Given the description of an element on the screen output the (x, y) to click on. 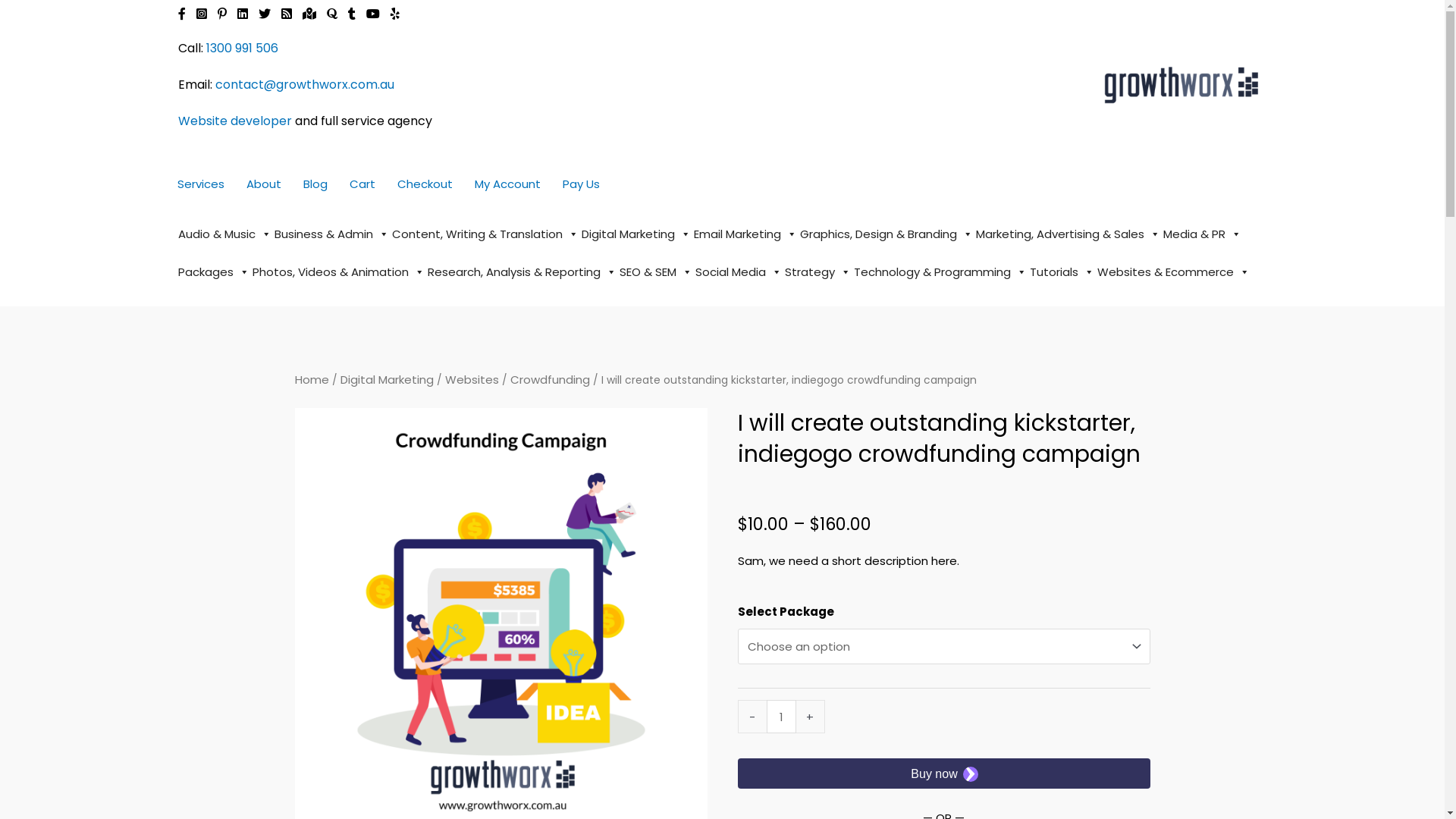
Websites & Ecommerce Element type: text (1172, 272)
Secure payment button frame Element type: hover (943, 773)
Business & Admin Element type: text (331, 234)
Media & PR Element type: text (1201, 234)
Research, Analysis & Reporting Element type: text (522, 272)
Blog Element type: text (315, 182)
About Element type: text (263, 182)
Strategy Element type: text (816, 272)
Services Element type: text (200, 182)
Digital Marketing Element type: text (386, 379)
Social Media Element type: text (737, 272)
Technology & Programming Element type: text (940, 272)
1300 991 506 Element type: text (242, 47)
Marketing, Advertising & Sales Element type: text (1067, 234)
Packages Element type: text (212, 272)
Audio & Music Element type: text (223, 234)
Email Marketing Element type: text (744, 234)
Website developer Element type: text (234, 120)
Content, Writing & Translation Element type: text (484, 234)
Photos, Videos & Animation Element type: text (337, 272)
Cart Element type: text (361, 182)
My Account Element type: text (507, 182)
Digital Marketing Element type: text (635, 234)
Tutorials Element type: text (1061, 272)
+ Element type: text (810, 716)
Checkout Element type: text (424, 182)
Pay Us Element type: text (581, 182)
contact@growthworx.com.au Element type: text (304, 84)
Websites Element type: text (471, 379)
Graphics, Design & Branding Element type: text (885, 234)
Home Element type: text (311, 379)
Crowdfunding Element type: text (549, 379)
SEO & SEM Element type: text (655, 272)
- Element type: text (751, 716)
